Given the description of an element on the screen output the (x, y) to click on. 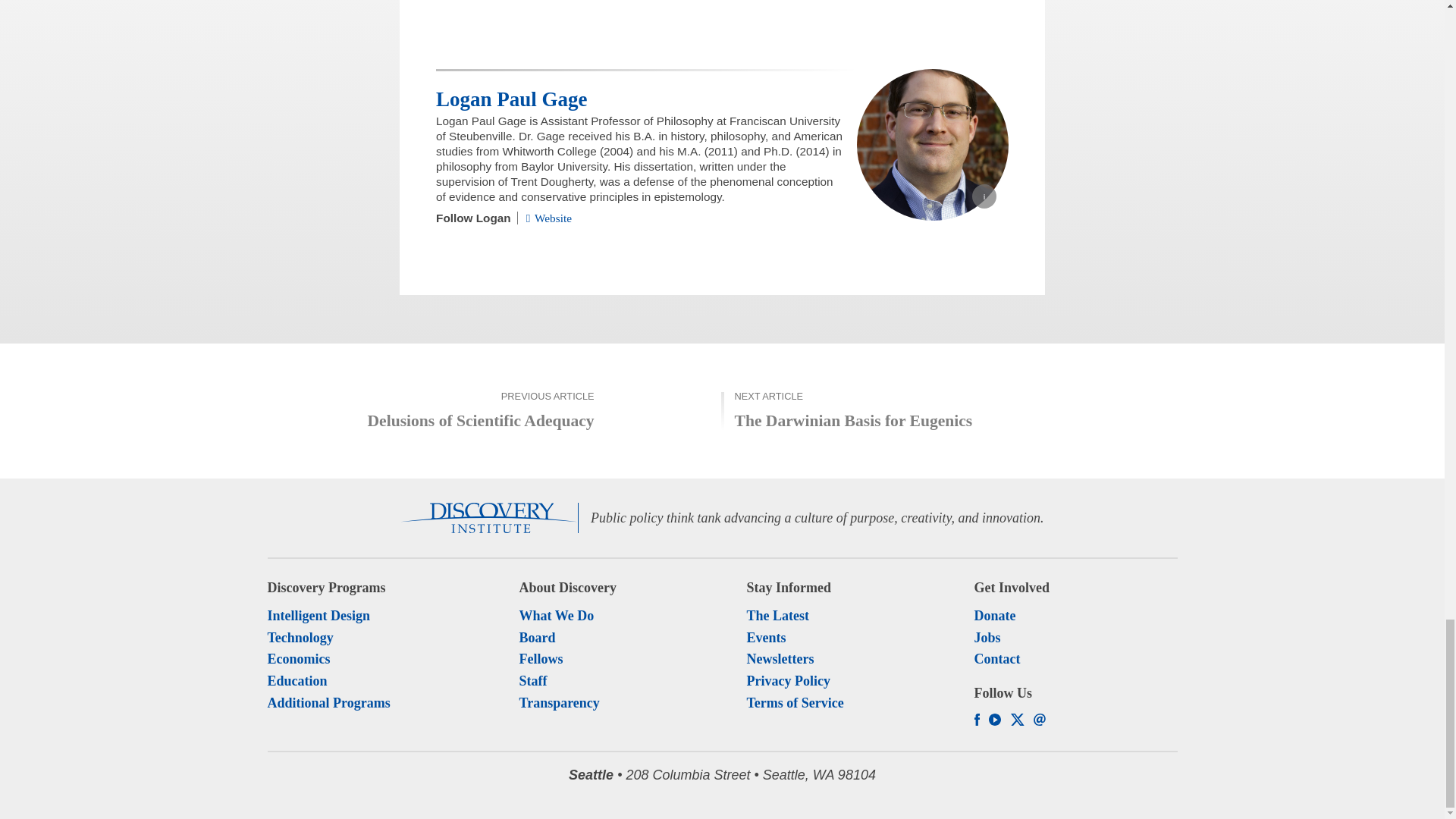
Logan Paul Gage (511, 98)
Website (548, 217)
